Given the description of an element on the screen output the (x, y) to click on. 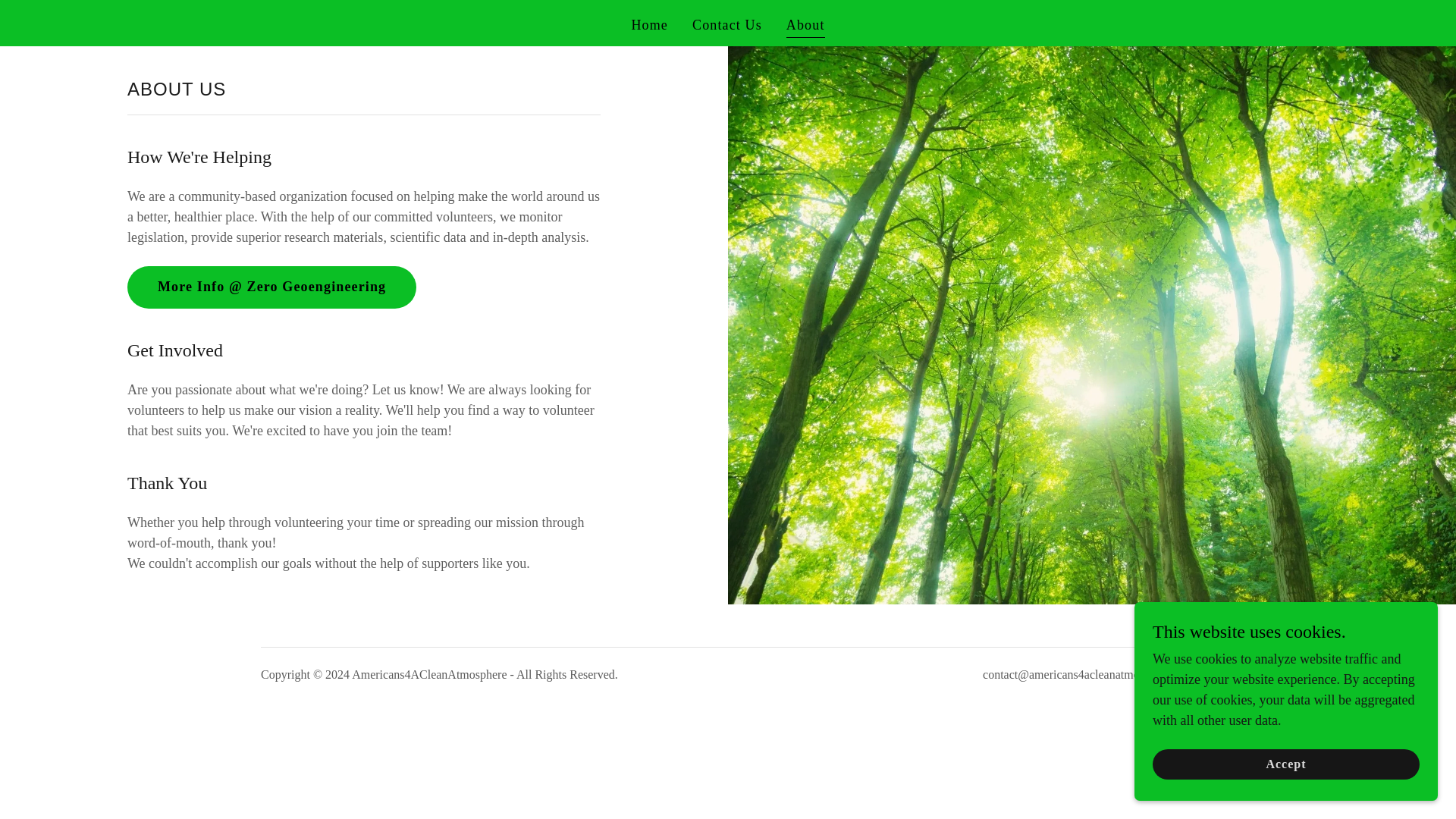
About (805, 26)
Accept (1286, 764)
Contact Us (727, 24)
Home (649, 24)
